Given the description of an element on the screen output the (x, y) to click on. 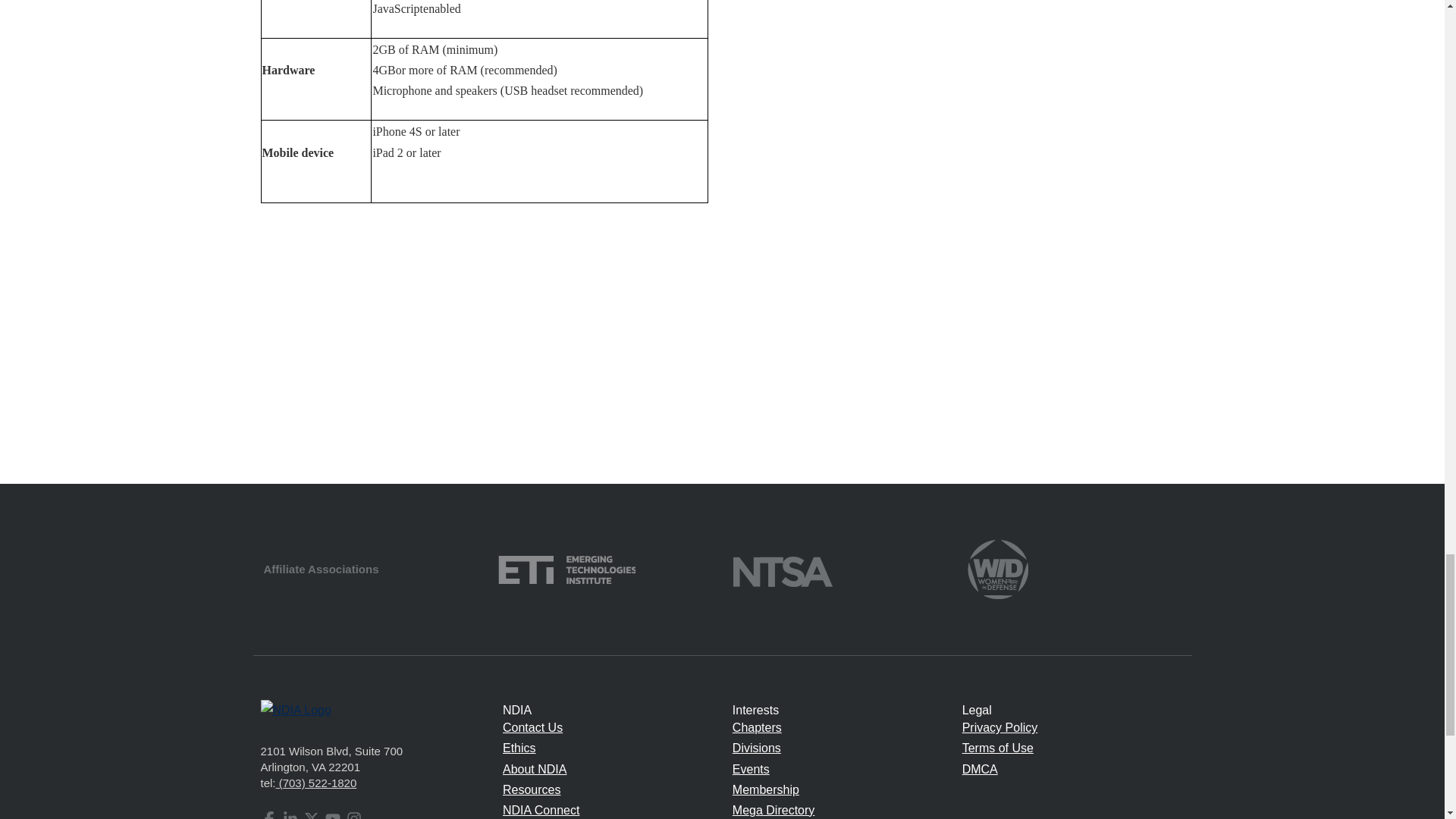
Emerging Technologies Institute (565, 569)
X (310, 815)
YouTube (331, 815)
Emerging Technologies Institute (565, 567)
About NDIA (534, 768)
WID (997, 567)
LinkedIn (289, 815)
Facebook (268, 815)
Instagram (353, 815)
